Given the description of an element on the screen output the (x, y) to click on. 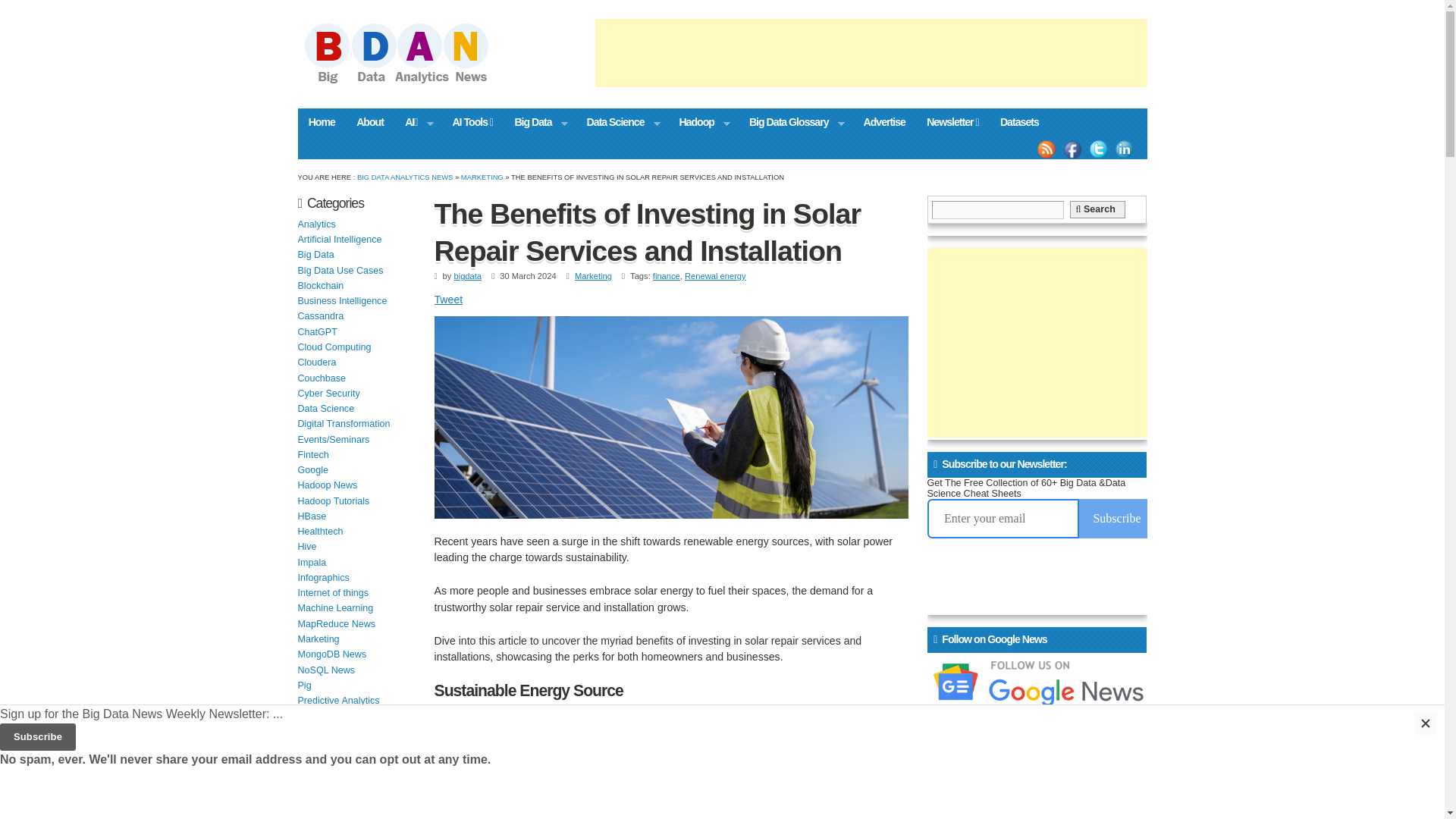
Big Data Analytics News (412, 81)
Datasets (1019, 121)
View all posts in Marketing (482, 176)
Big Data Analytics News (404, 176)
Advertisement (870, 52)
Advertise (883, 121)
Follow us on Twitter (1097, 149)
Like us on Facebook (1071, 149)
Subscribe to rss feed (1045, 149)
About (370, 121)
Search (1099, 208)
